Given the description of an element on the screen output the (x, y) to click on. 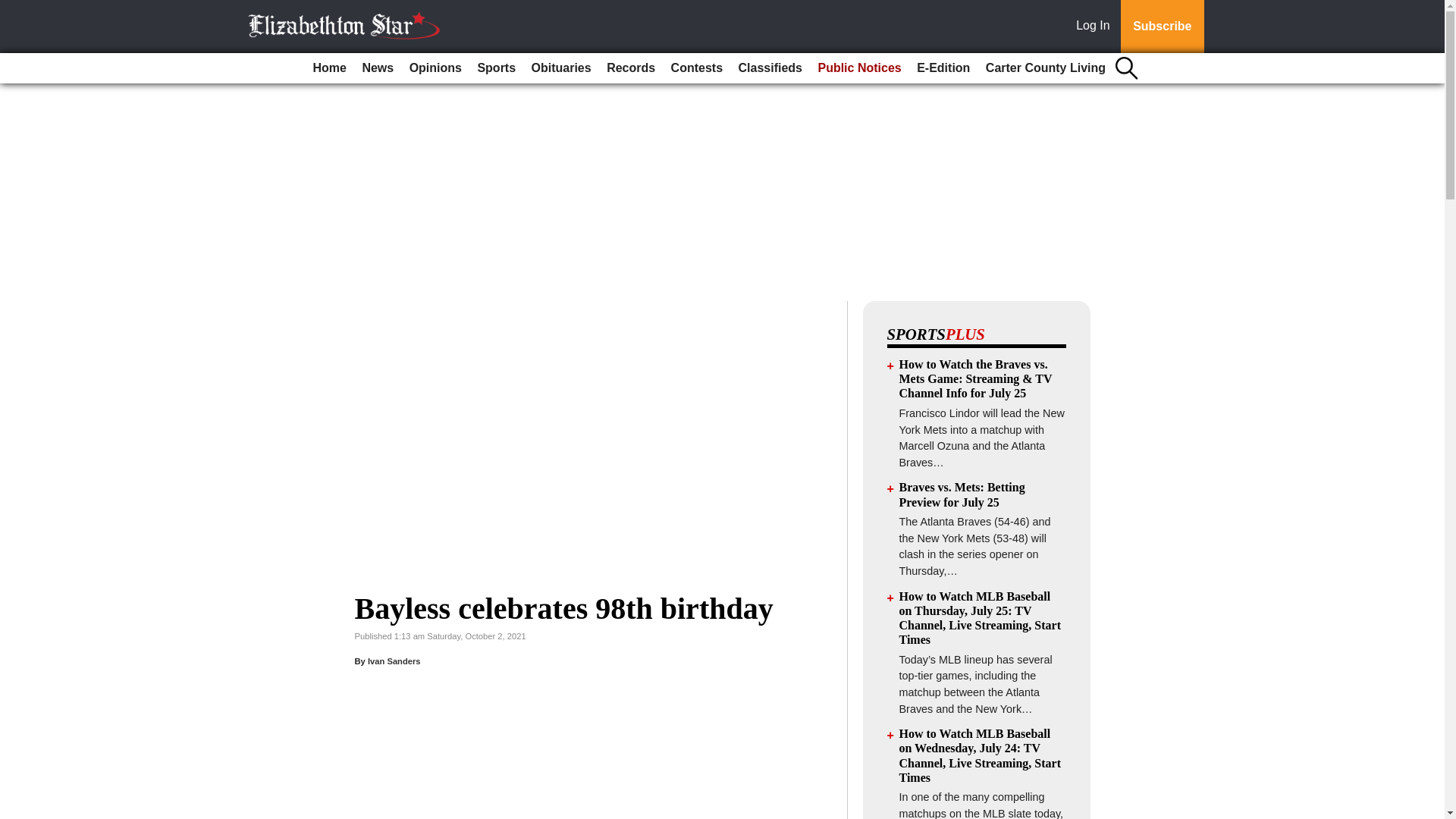
News (376, 68)
Carter County Living (1045, 68)
Braves vs. Mets: Betting Preview for July 25 (962, 493)
Obituaries (560, 68)
Contests (697, 68)
Opinions (435, 68)
Sports (495, 68)
Log In (1095, 26)
Classifieds (770, 68)
Public Notices (858, 68)
E-Edition (943, 68)
Ivan Sanders (394, 660)
Home (328, 68)
Go (13, 9)
